Given the description of an element on the screen output the (x, y) to click on. 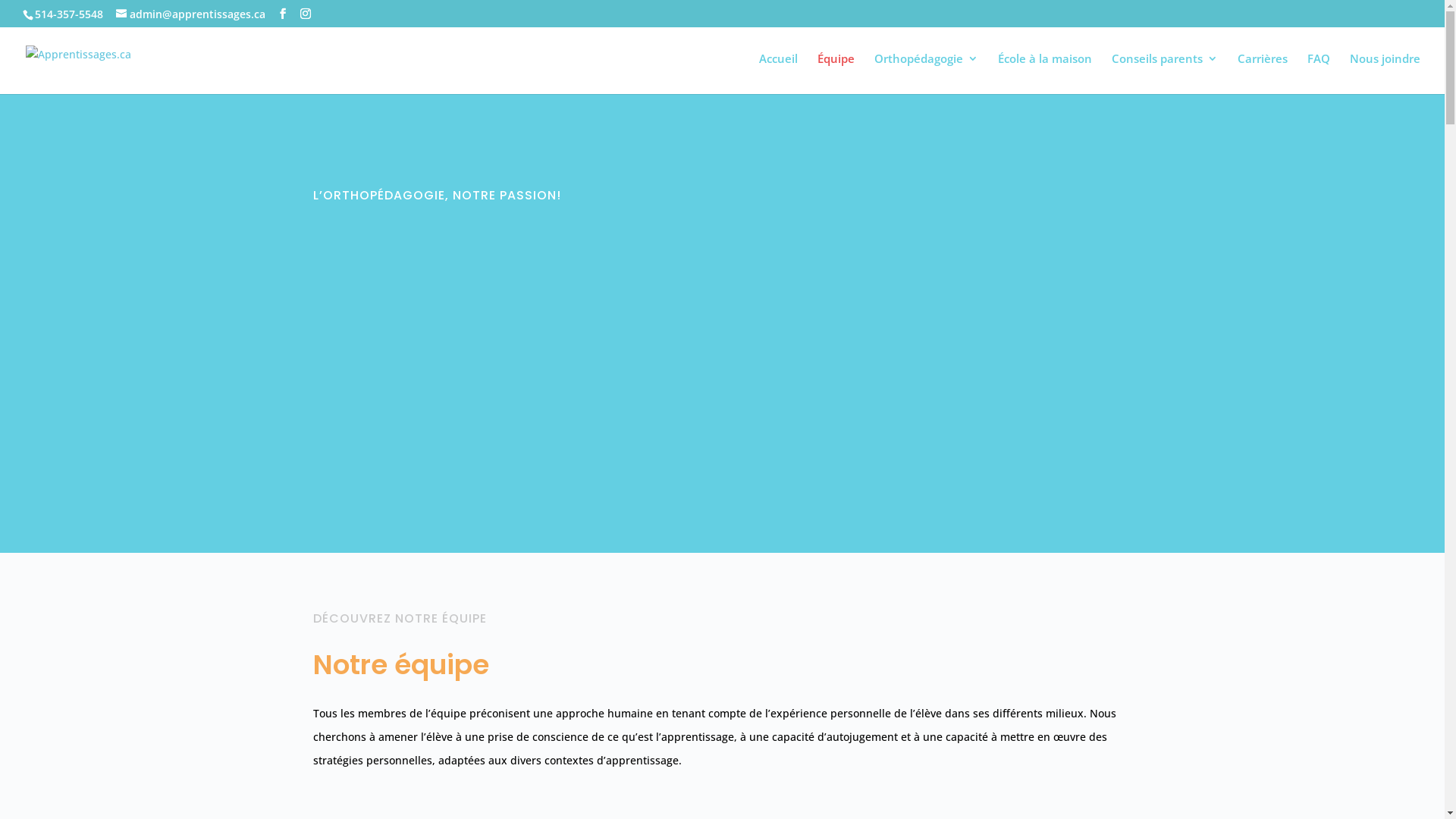
Conseils parents Element type: text (1164, 73)
FAQ Element type: text (1318, 73)
Accueil Element type: text (778, 73)
Nous joindre Element type: text (1384, 73)
admin@apprentissages.ca Element type: text (190, 13)
